Given the description of an element on the screen output the (x, y) to click on. 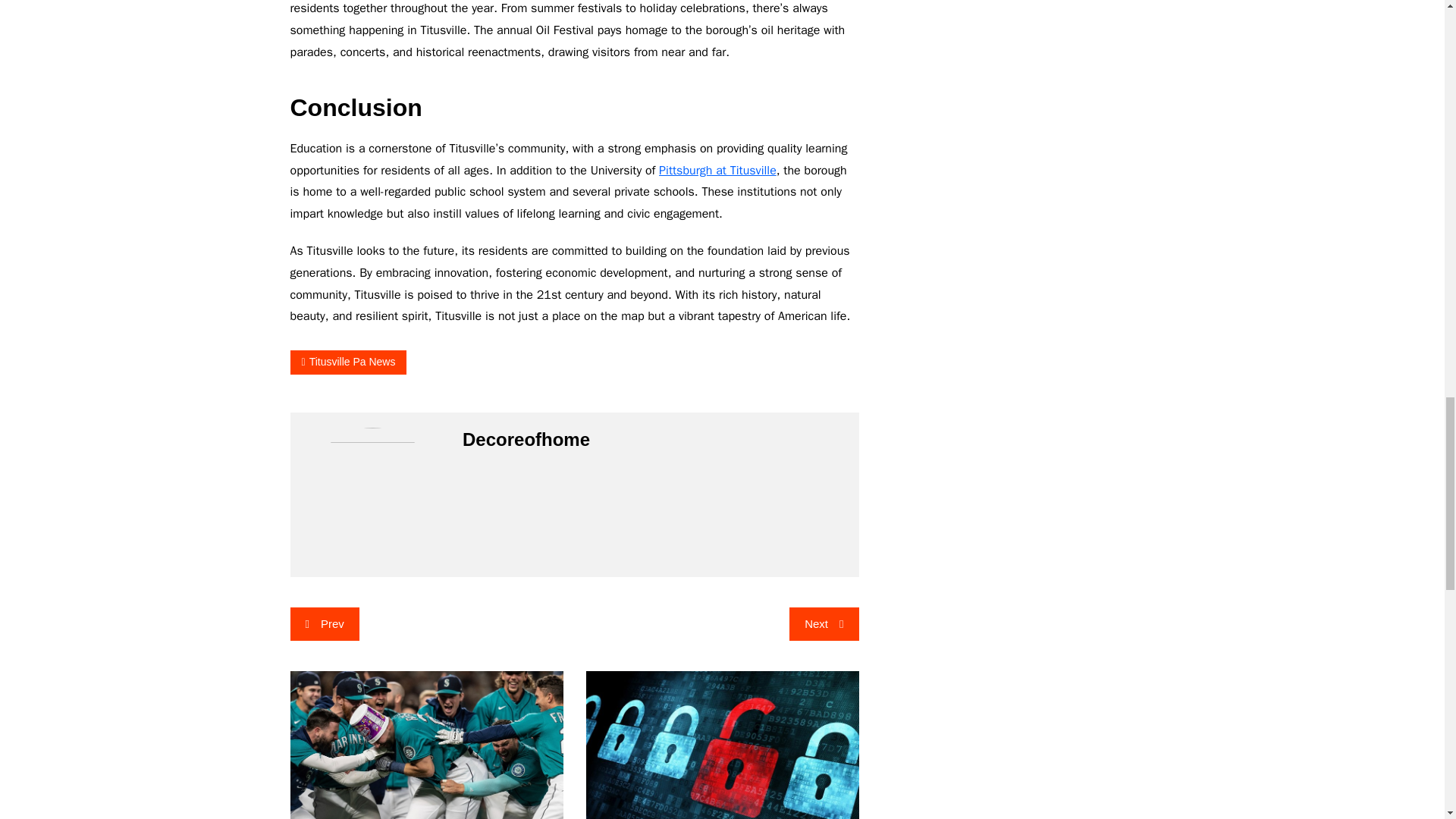
Next (824, 623)
Titusville Pa News (347, 361)
Pittsburgh at Titusville (717, 170)
Prev (323, 623)
